Given the description of an element on the screen output the (x, y) to click on. 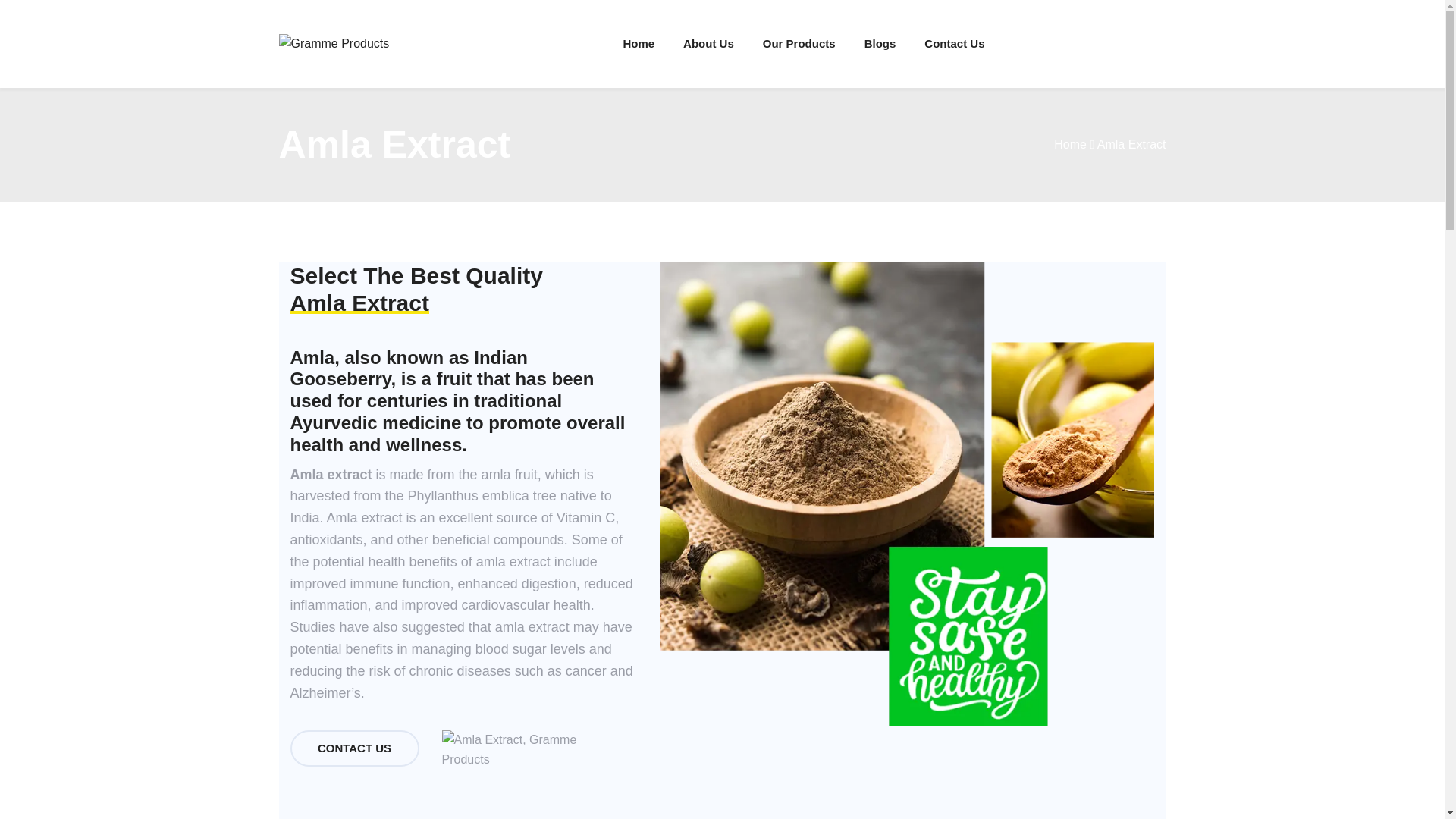
CONTACT US (354, 748)
Contact Us (954, 42)
Home (638, 42)
Our Products (798, 42)
About Us (707, 42)
logo-social-2 (527, 749)
Blogs (880, 42)
Home (1070, 144)
